Given the description of an element on the screen output the (x, y) to click on. 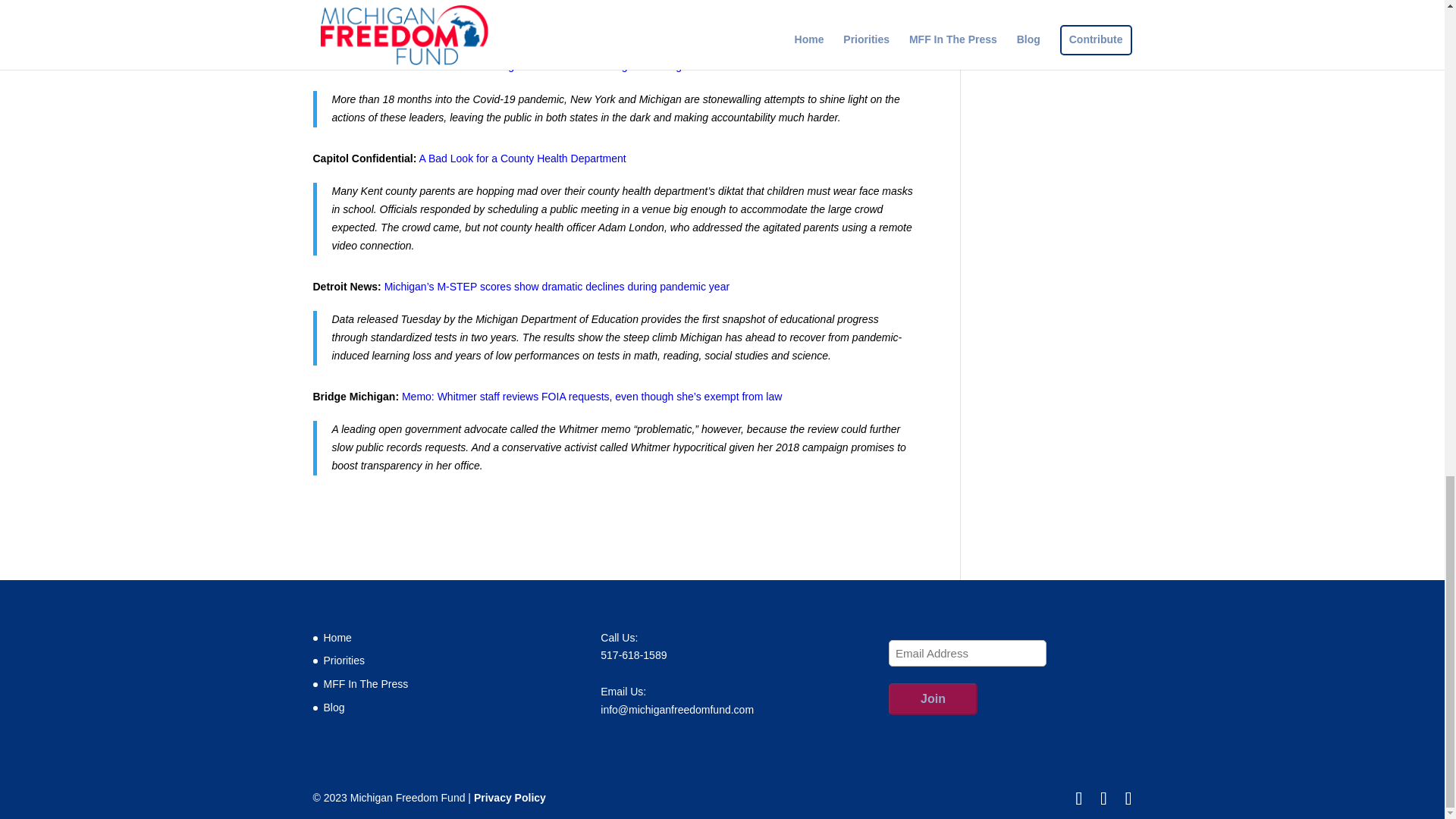
MFF In The Press (365, 684)
Home (336, 637)
A Bad Look for a County Health Department (522, 158)
517-618-1589 (632, 654)
A Bad Look for a County Health Department (522, 158)
Privacy Policy (510, 797)
Join (932, 698)
Blog (333, 707)
Priorities (343, 660)
Join (932, 698)
